Given the description of an element on the screen output the (x, y) to click on. 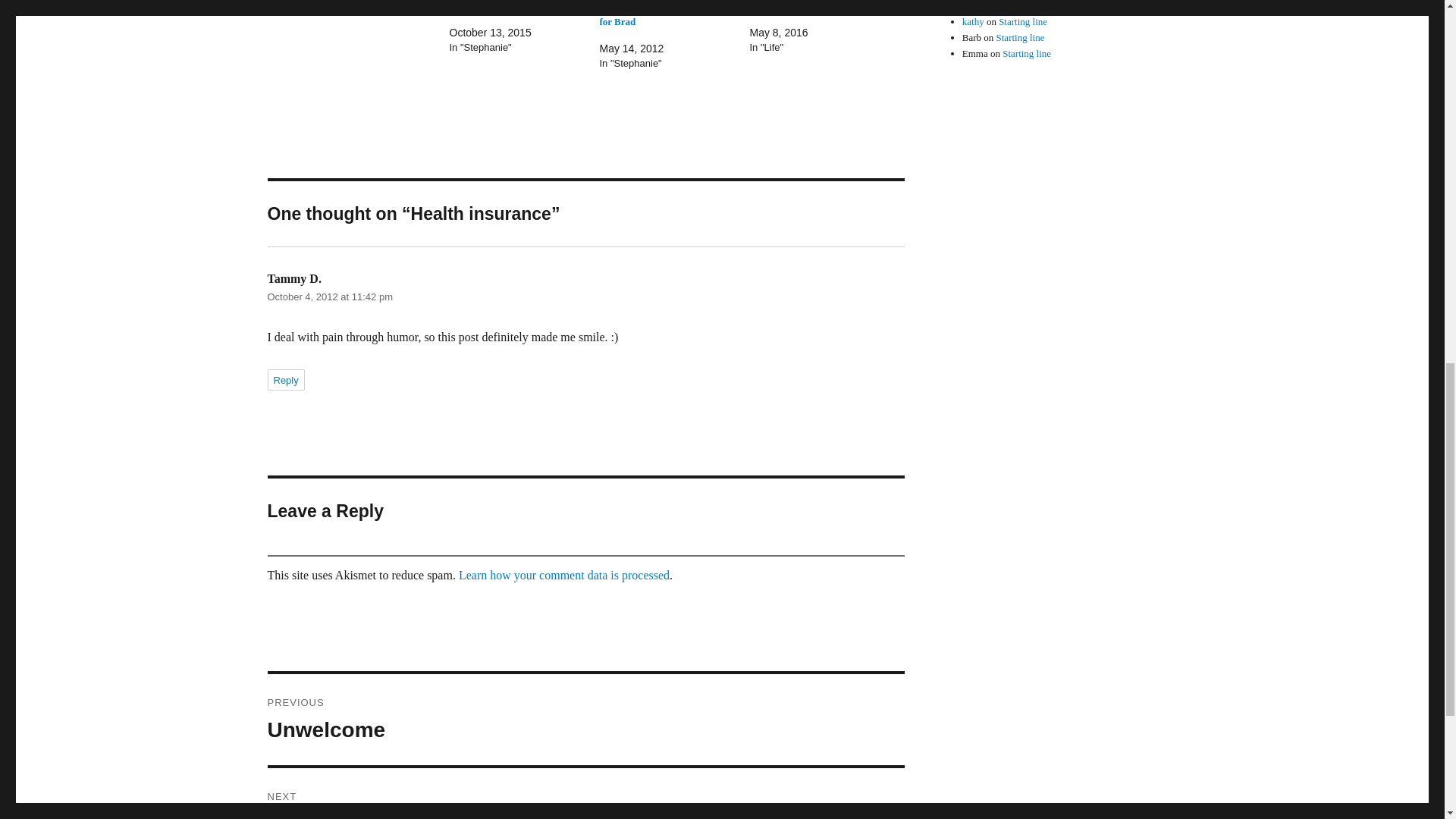
A Growing List (781, 5)
Learn how your comment data is processed (563, 574)
Comment Form (585, 793)
Reply (781, 5)
October 4, 2012 at 11:42 pm (285, 379)
